Given the description of an element on the screen output the (x, y) to click on. 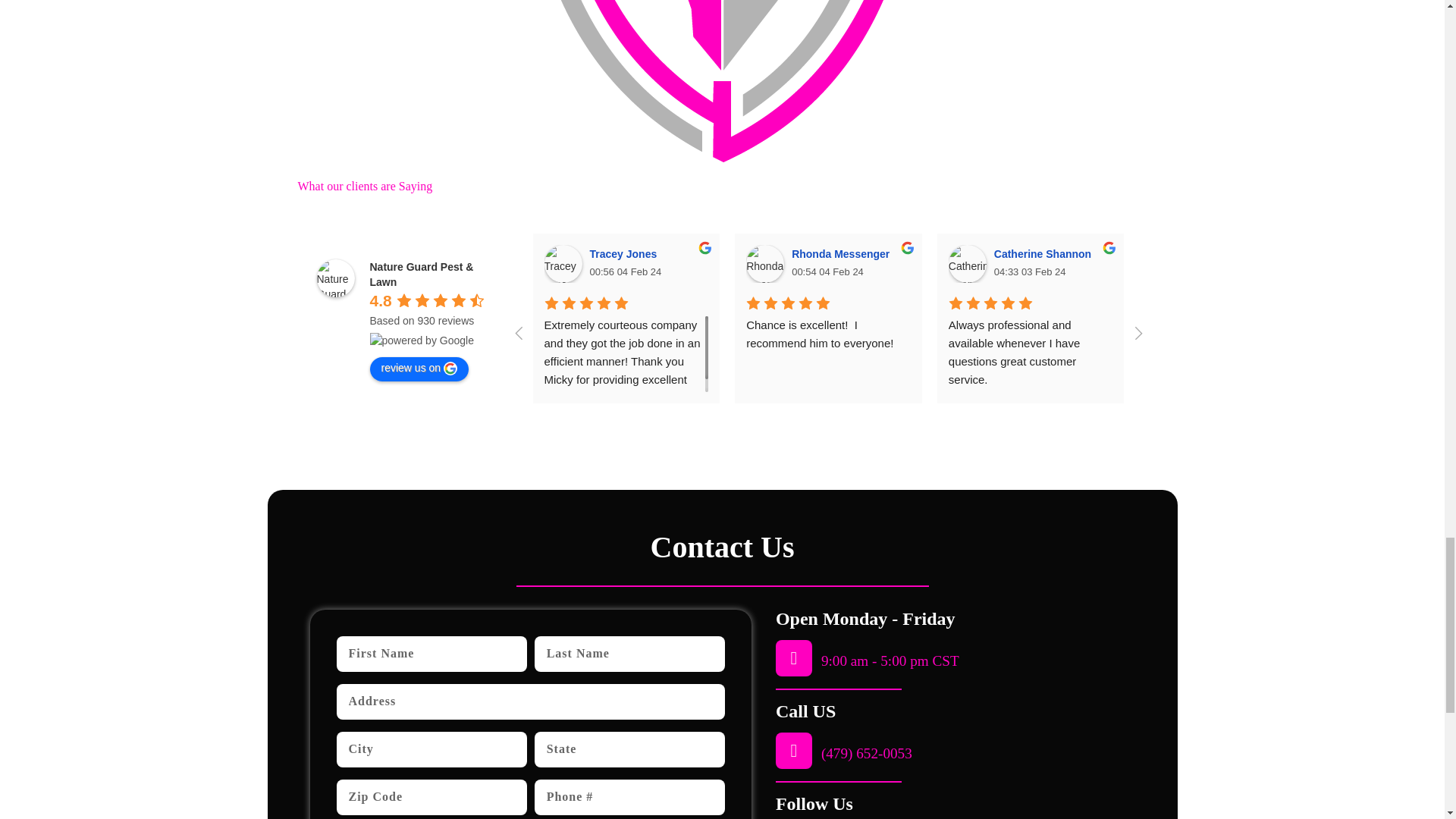
Rhonda Messenger (764, 263)
powered by Google (421, 340)
Catherine Shannon (968, 263)
Rick Galanos (1371, 263)
Sherri Hill (1169, 263)
Tracey Jones (563, 263)
